Given the description of an element on the screen output the (x, y) to click on. 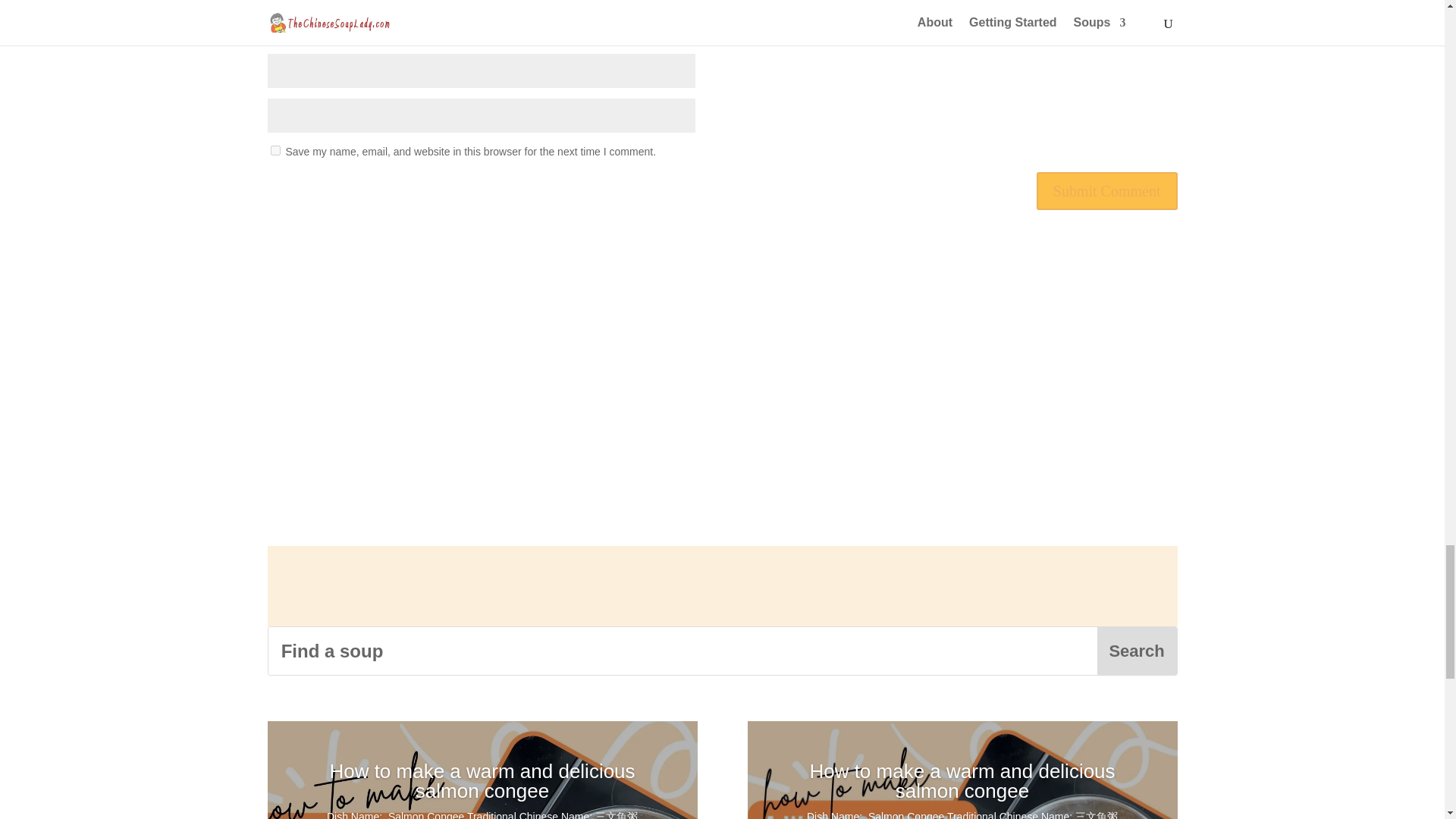
Search (1136, 650)
Search (1136, 650)
yes (274, 150)
